Given the description of an element on the screen output the (x, y) to click on. 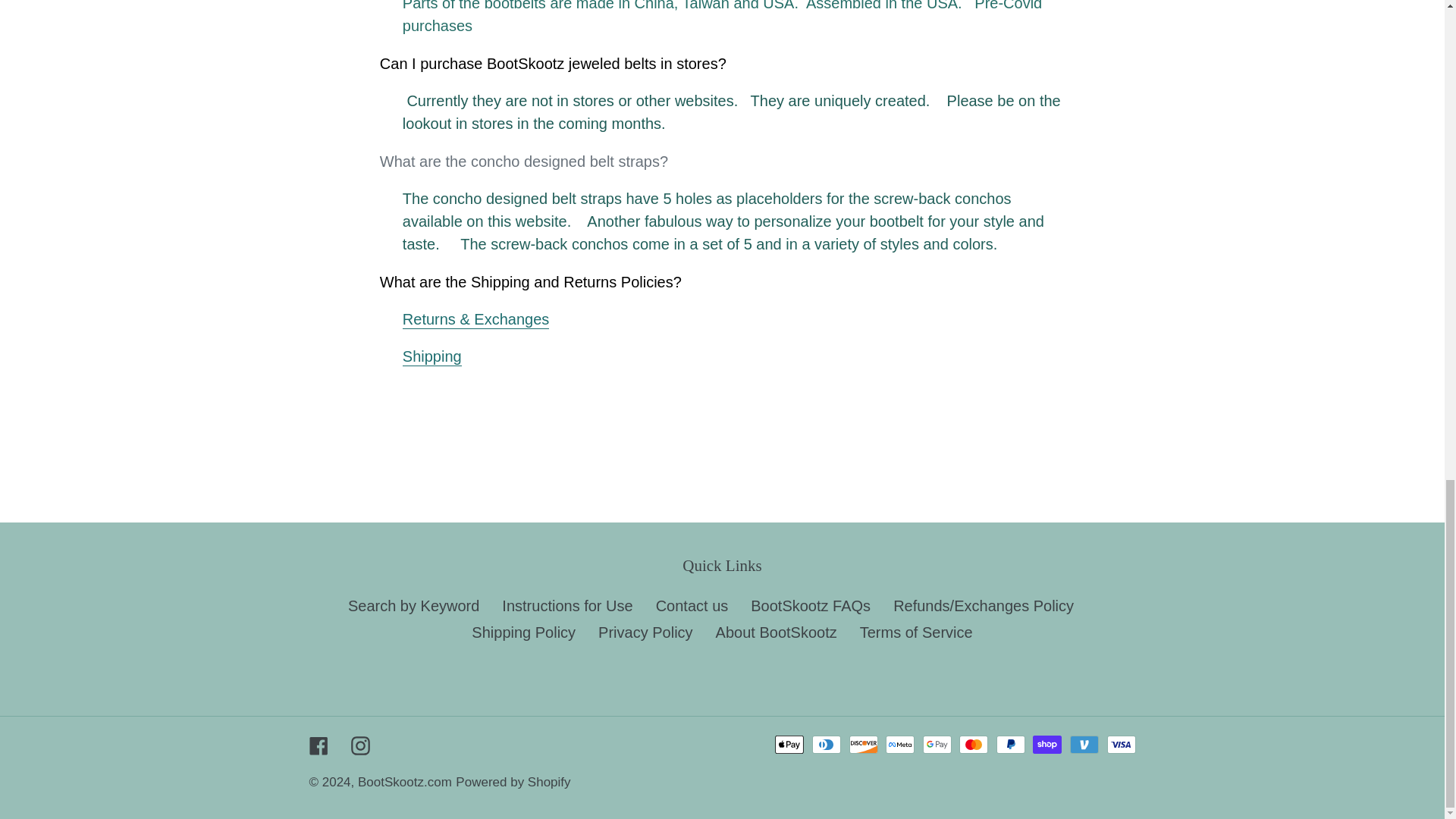
Terms of Service (916, 632)
Shipping Policy (523, 632)
About BootSkootz (776, 632)
BootSkootz FAQs (810, 605)
Contact us (692, 605)
Shipping (432, 357)
Search by Keyword (413, 605)
Instructions for Use (566, 605)
Privacy Policy (645, 632)
Shipping (432, 357)
